Given the description of an element on the screen output the (x, y) to click on. 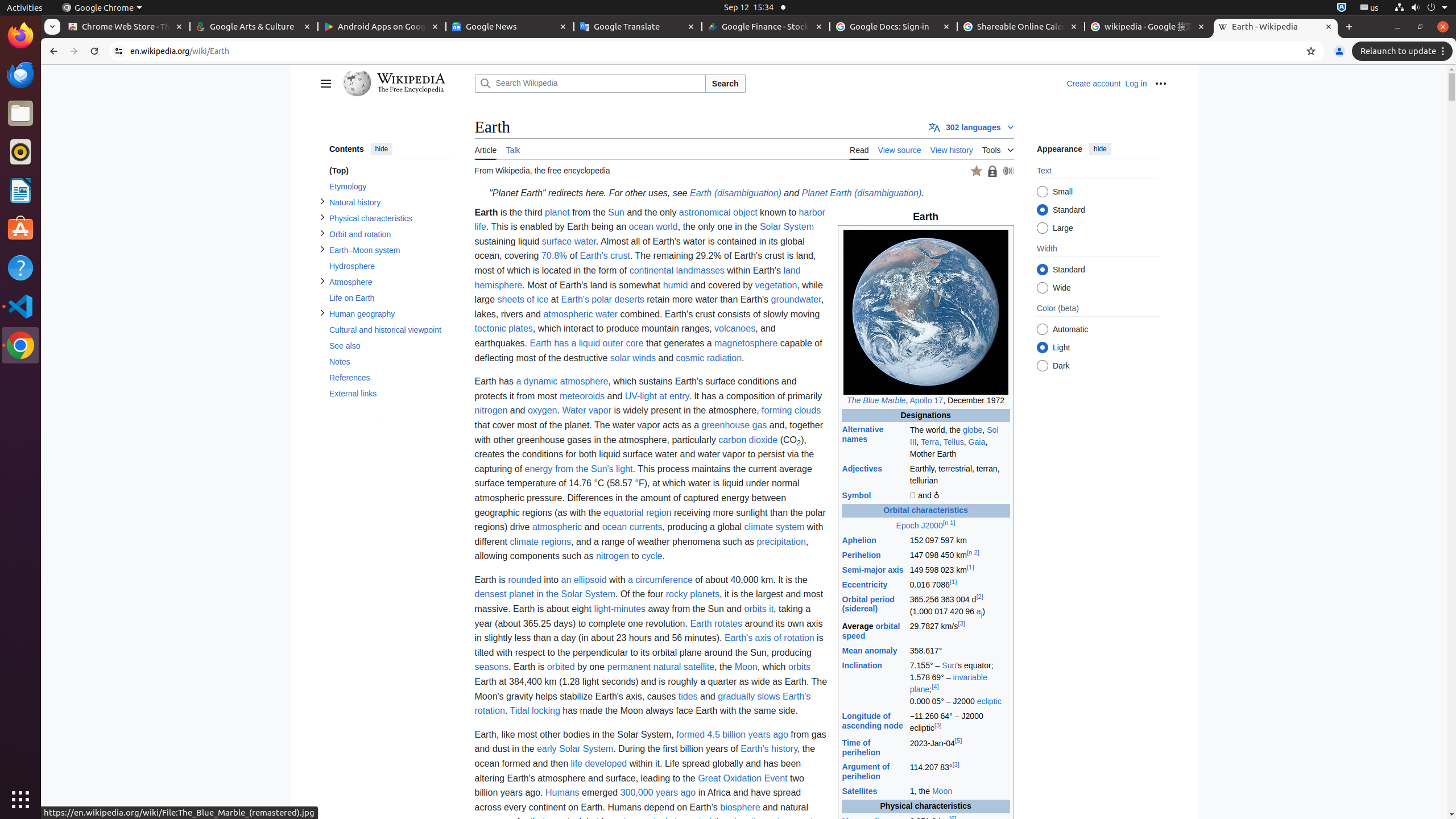
View source Element type: link (899, 148)
Sun Element type: link (948, 664)
Eccentricity Element type: link (864, 584)
Longitude of ascending node Element type: link (872, 720)
Mean anomaly Element type: link (869, 650)
